Given the description of an element on the screen output the (x, y) to click on. 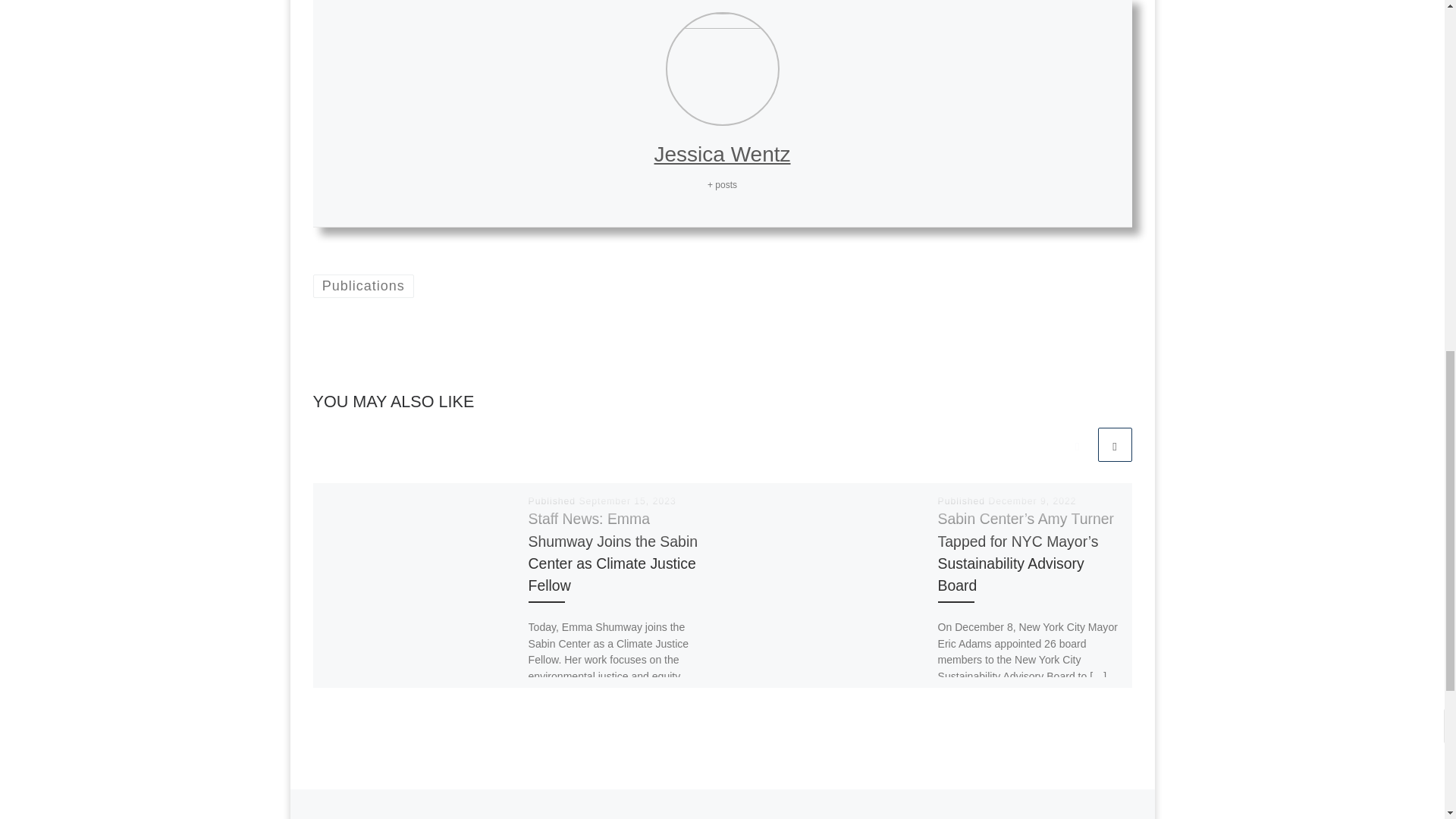
Back to post list (722, 811)
View all posts in Publications (363, 286)
Previous related articles (1076, 444)
Next related articles (1114, 444)
